Given the description of an element on the screen output the (x, y) to click on. 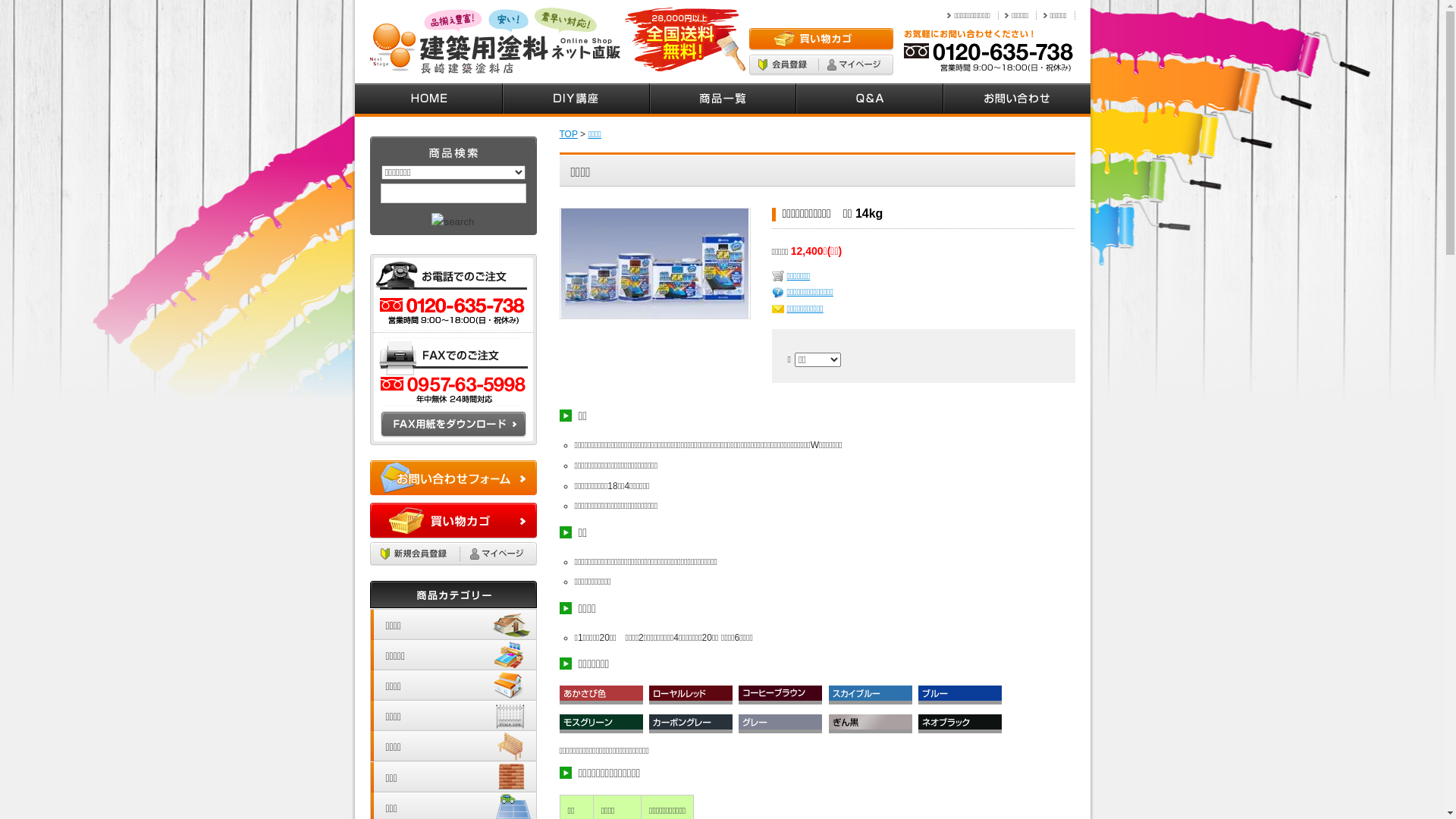
TOP Element type: text (568, 133)
